Given the description of an element on the screen output the (x, y) to click on. 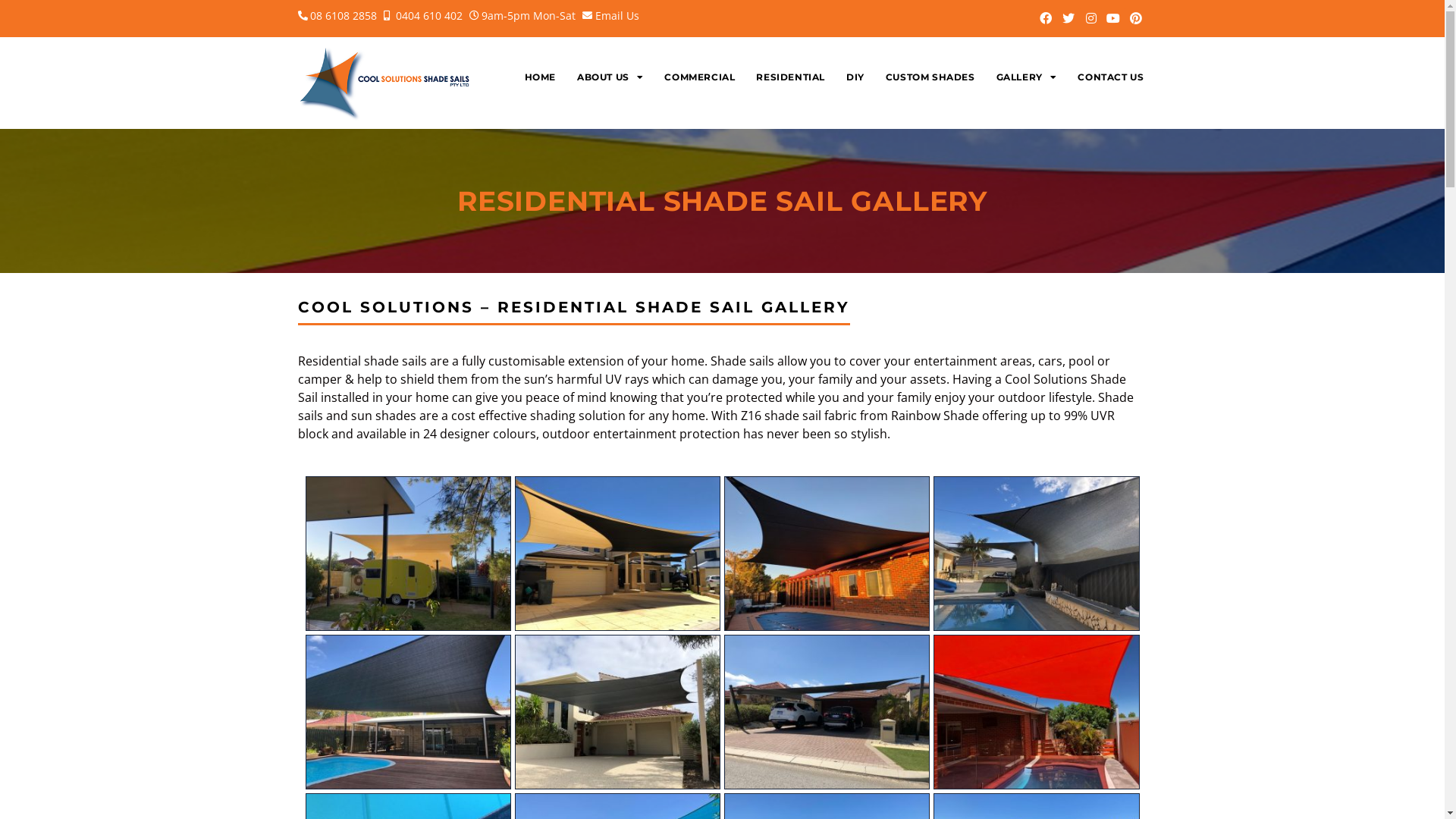
ABOUT US Element type: text (609, 76)
RESIDENTIAL Element type: text (790, 76)
DIY Element type: text (855, 76)
CONTACT US Element type: text (1110, 76)
Email Us Element type: text (610, 15)
COMMERCIAL Element type: text (699, 76)
GALLERY Element type: text (1026, 76)
CUSTOM SHADES Element type: text (930, 76)
HOME Element type: text (540, 76)
